Given the description of an element on the screen output the (x, y) to click on. 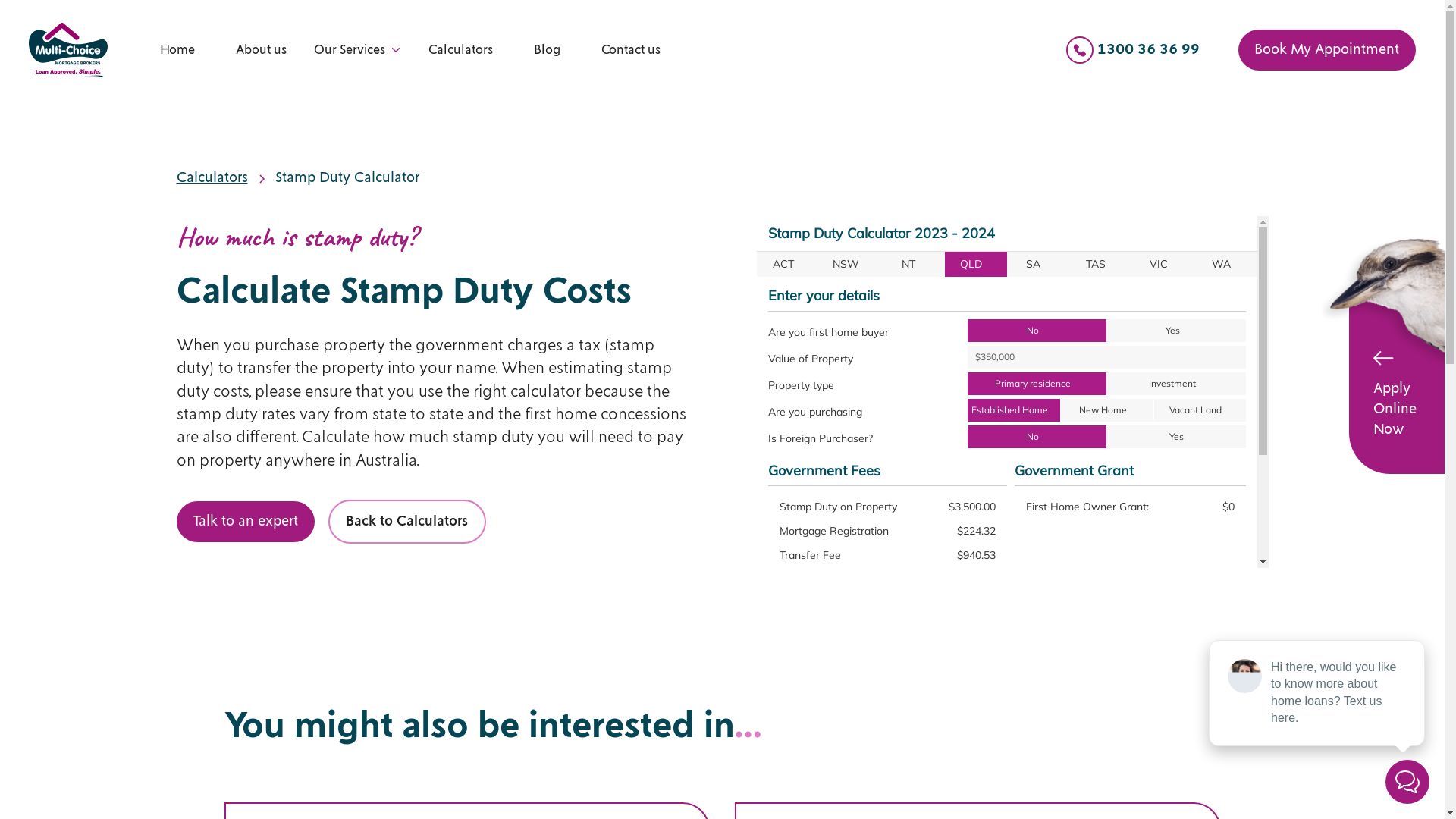
Back to Calculators Element type: text (407, 521)
About us Element type: text (260, 50)
Calculators Element type: text (211, 178)
Talk to an expert Element type: text (244, 521)
Blog Element type: text (546, 50)
Home Element type: text (177, 50)
1300 36 36 99 Element type: text (1132, 49)
Stamp Duty Calculator Element type: text (346, 178)
Contact us Element type: text (630, 50)
Our Services Element type: text (349, 50)
Book My Appointment Element type: text (1326, 49)
Calculators Element type: text (460, 50)
